Given the description of an element on the screen output the (x, y) to click on. 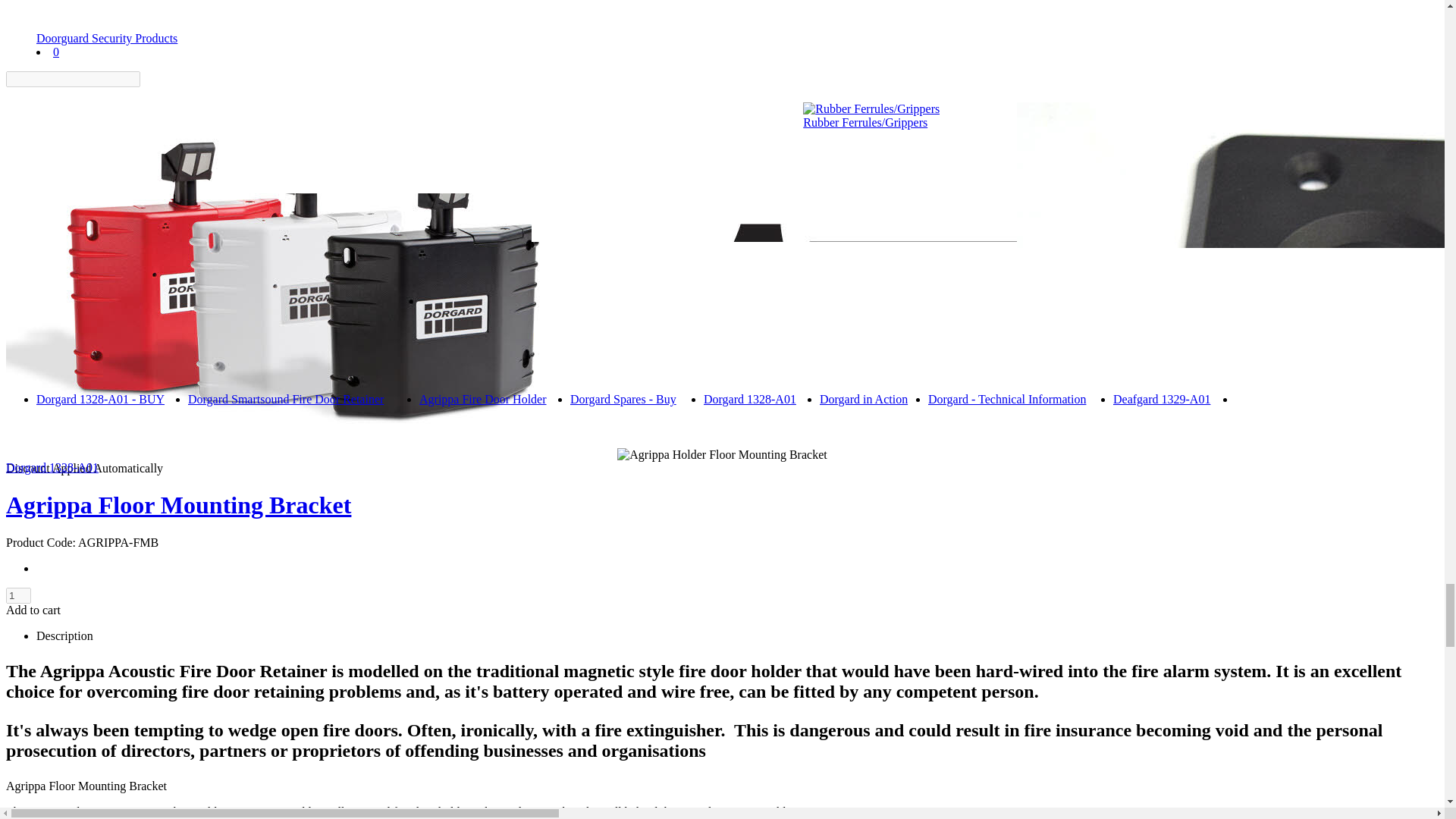
Doorguard Security Products (721, 112)
Contact Us (63, 329)
Home (50, 235)
1 (17, 595)
Basket (52, 310)
Deafgard 1329-A01 (1161, 399)
Dorgard Spares - Buy (623, 399)
Agrippa Fire Door Holder (483, 399)
Doorguard Security Products (106, 38)
Find (148, 78)
Dorgard - Technical Information (1007, 399)
Favourites (61, 349)
Dorgard 1328-A01 (749, 399)
